Given the description of an element on the screen output the (x, y) to click on. 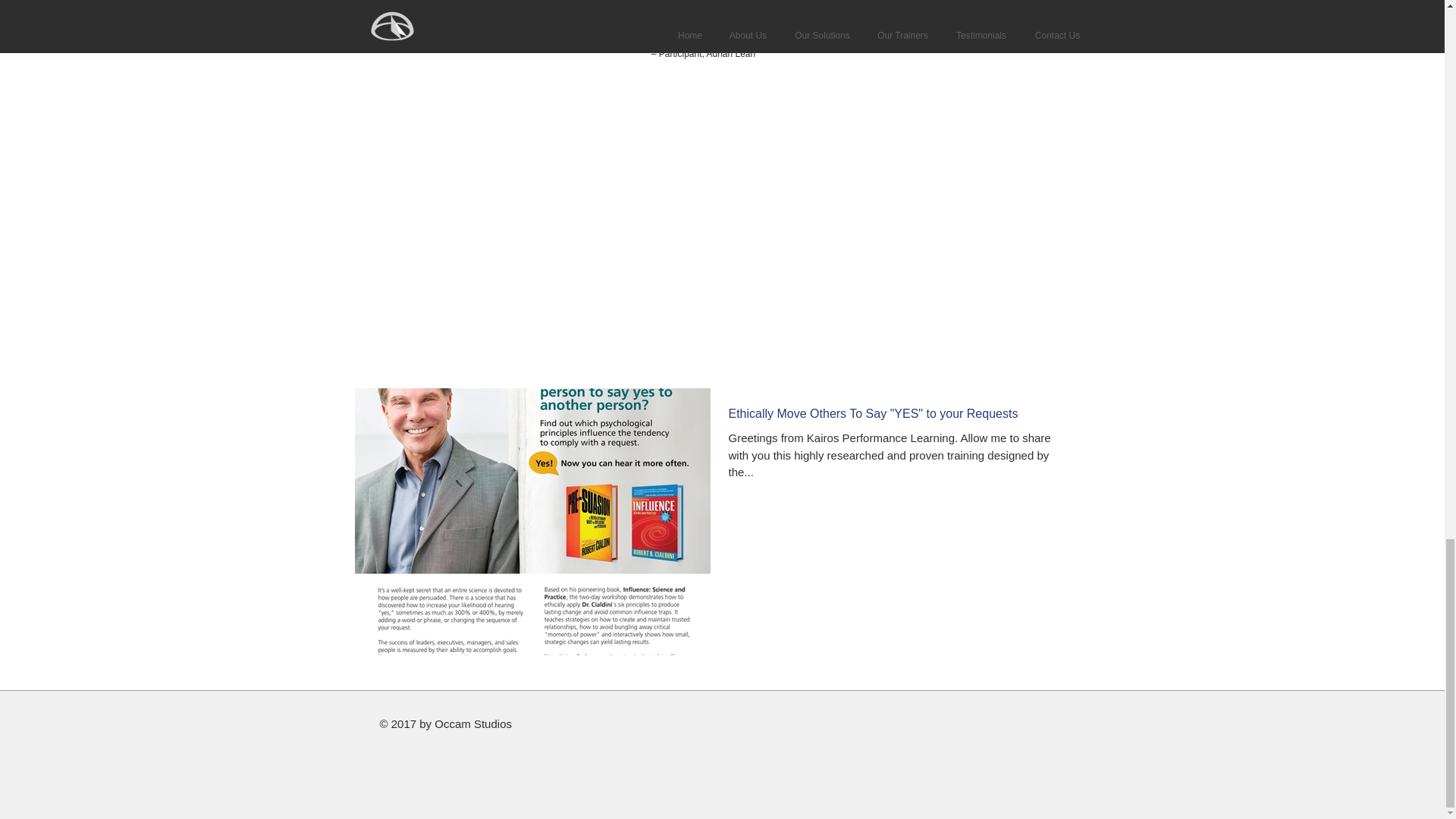
Ethically Move Others To Say "YES" to your Requests (899, 417)
